Given the description of an element on the screen output the (x, y) to click on. 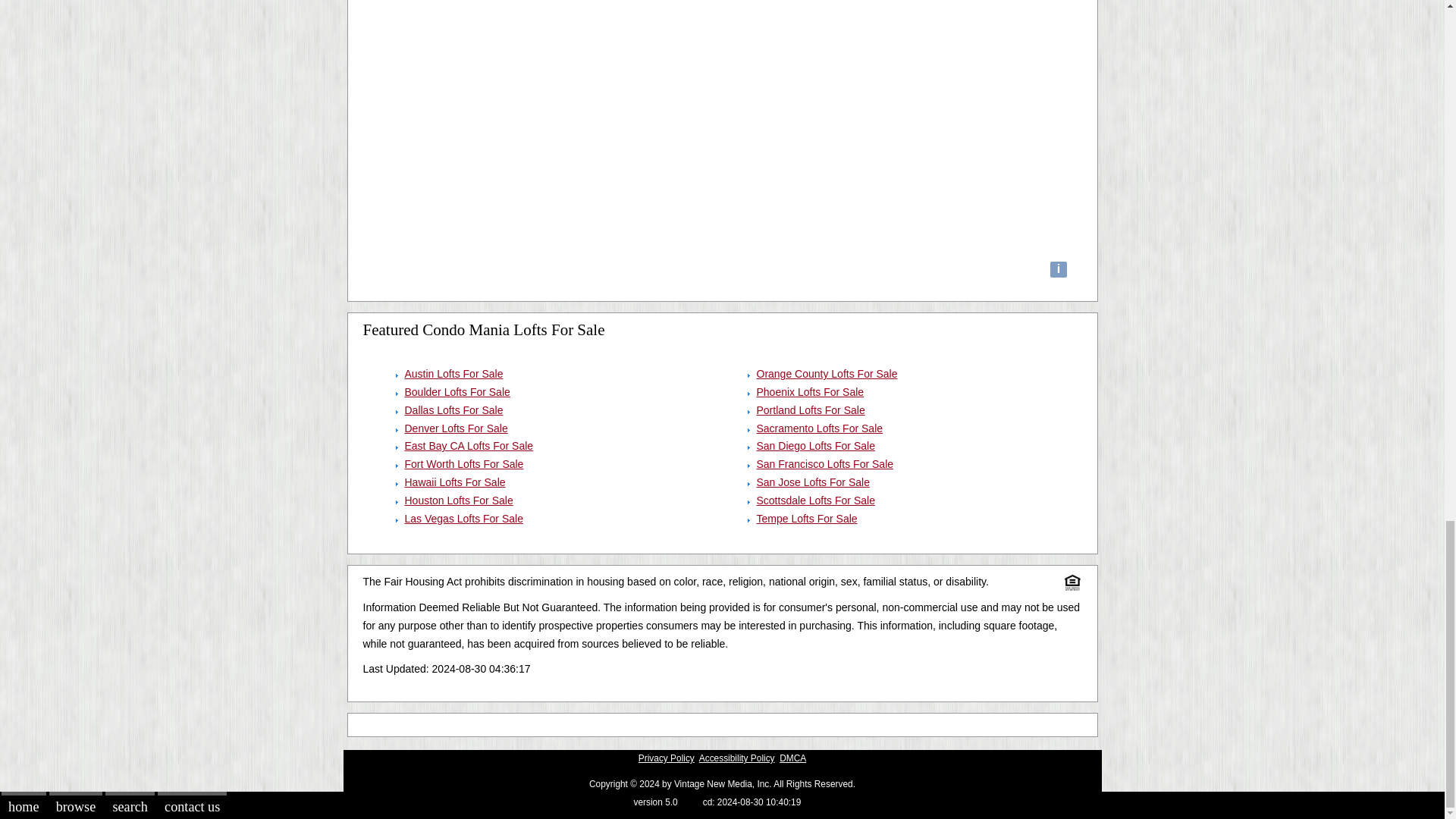
Las Vegas Lofts For Sale (463, 518)
Attributions (1058, 269)
i (1058, 269)
Orange County Lofts For Sale (827, 373)
East Bay CA Lofts For Sale (469, 445)
Phoenix Lofts For Sale (810, 391)
Austin Texas Lofts For Sale (453, 373)
Dallas Lofts For Sale (453, 410)
Hawaii Lofts For Sale (454, 481)
Austin Lofts For Sale (453, 373)
